Given the description of an element on the screen output the (x, y) to click on. 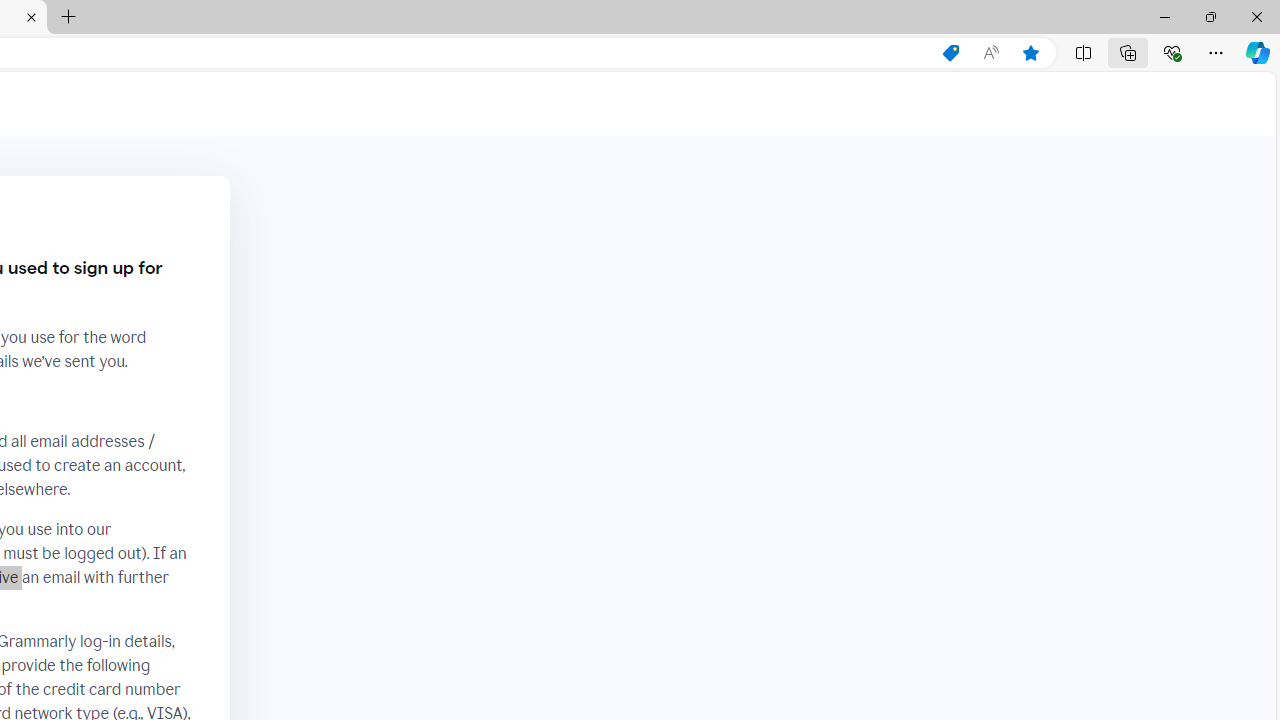
Shopping in Microsoft Edge (950, 53)
